Given the description of an element on the screen output the (x, y) to click on. 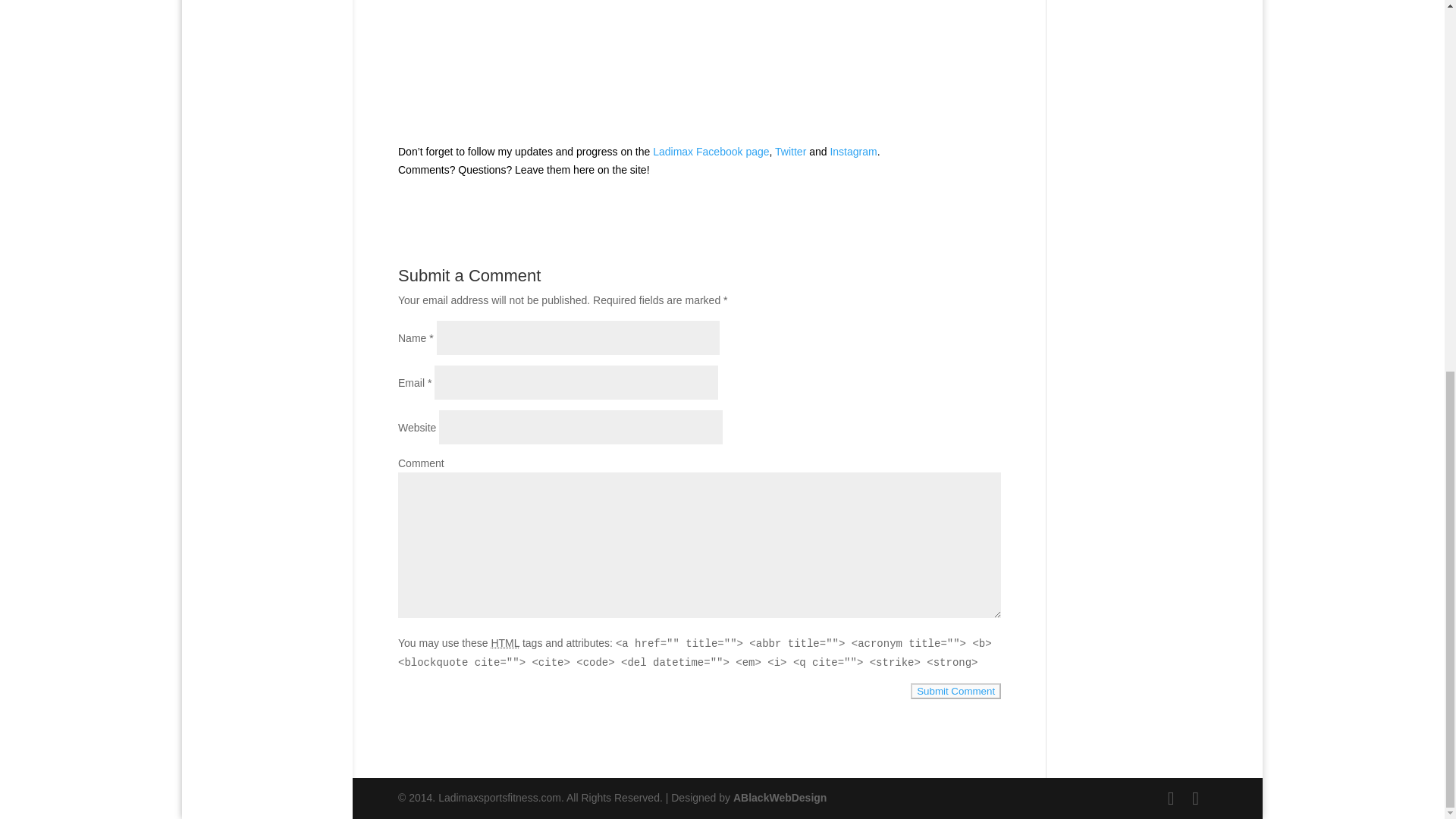
Submit Comment (956, 691)
ABlackWebDesign (780, 797)
Ladimax Facebook page (710, 151)
Submit Comment (956, 691)
HyperText Markup Language (504, 643)
Twitter (790, 151)
Instagram (852, 151)
